Given the description of an element on the screen output the (x, y) to click on. 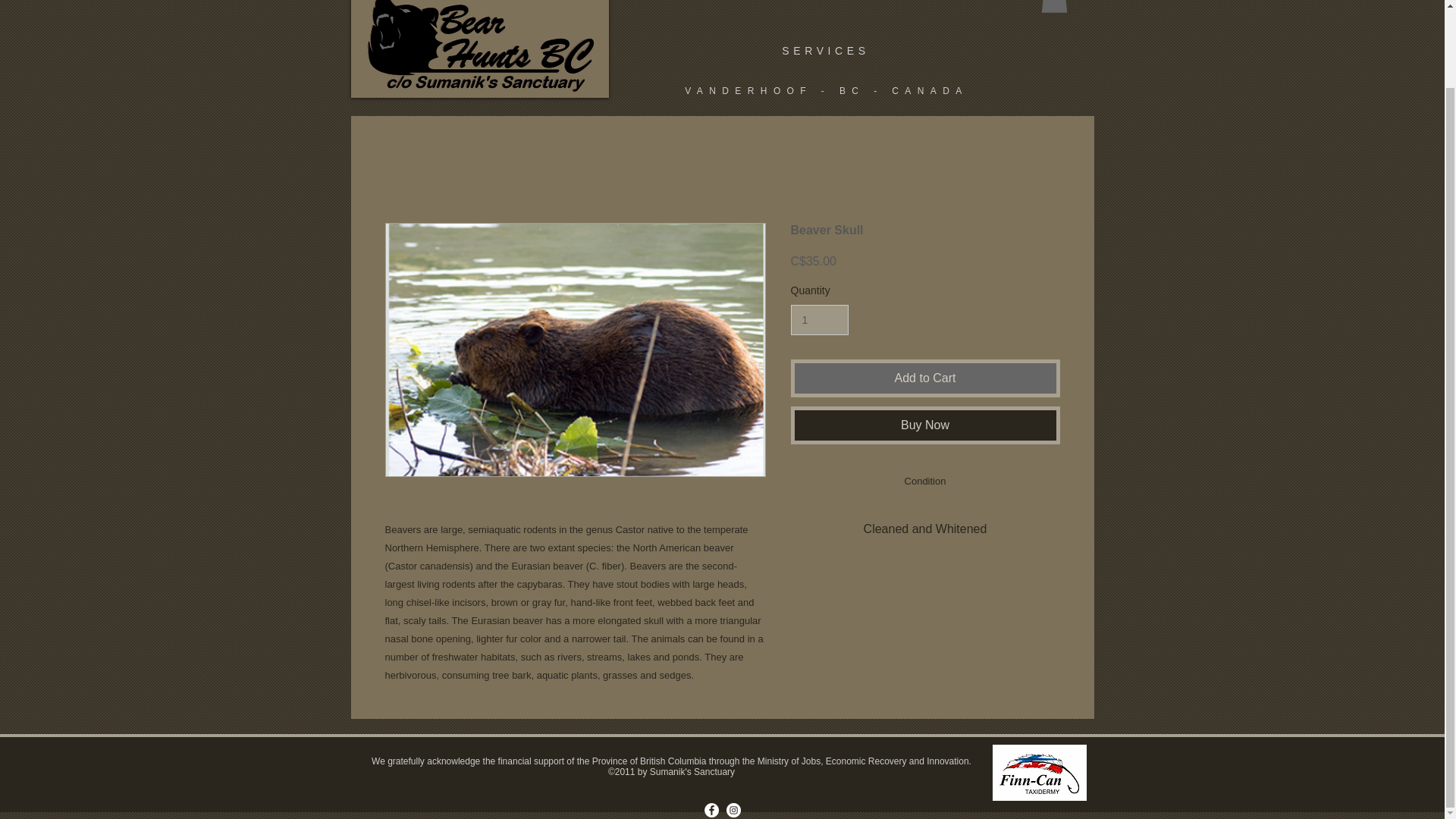
1440029187.png (1038, 772)
Add to Cart (924, 378)
Buy Now (924, 425)
Use right and left arrows to navigate between tabs (924, 482)
1 (818, 319)
